Given the description of an element on the screen output the (x, y) to click on. 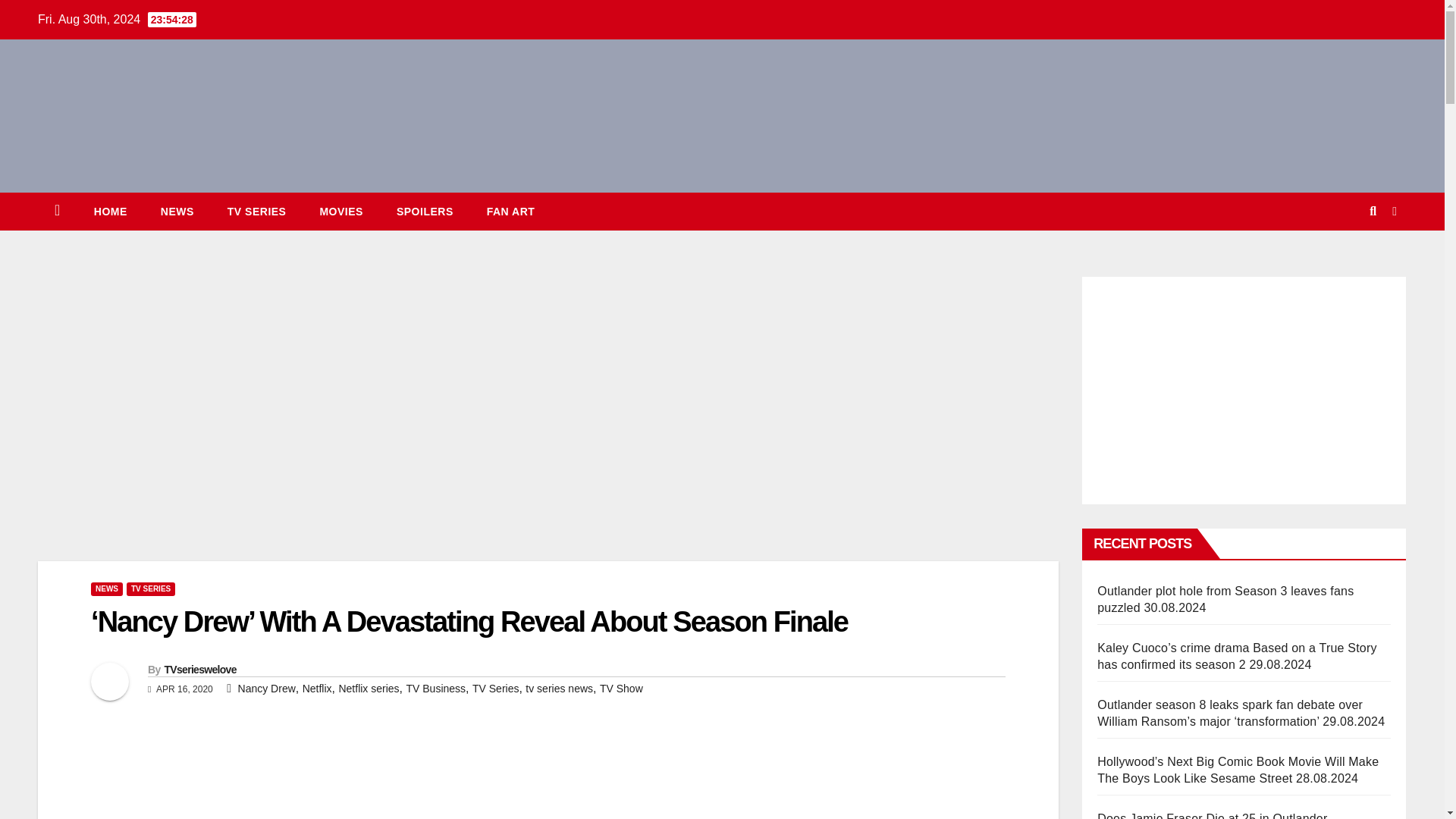
NEWS (106, 589)
TV SERIES (150, 589)
Movies (340, 211)
HOME (110, 211)
NEWS (177, 211)
Spoilers (425, 211)
TV Series (256, 211)
SPOILERS (425, 211)
Home (110, 211)
TVserieswelove (199, 669)
